Given the description of an element on the screen output the (x, y) to click on. 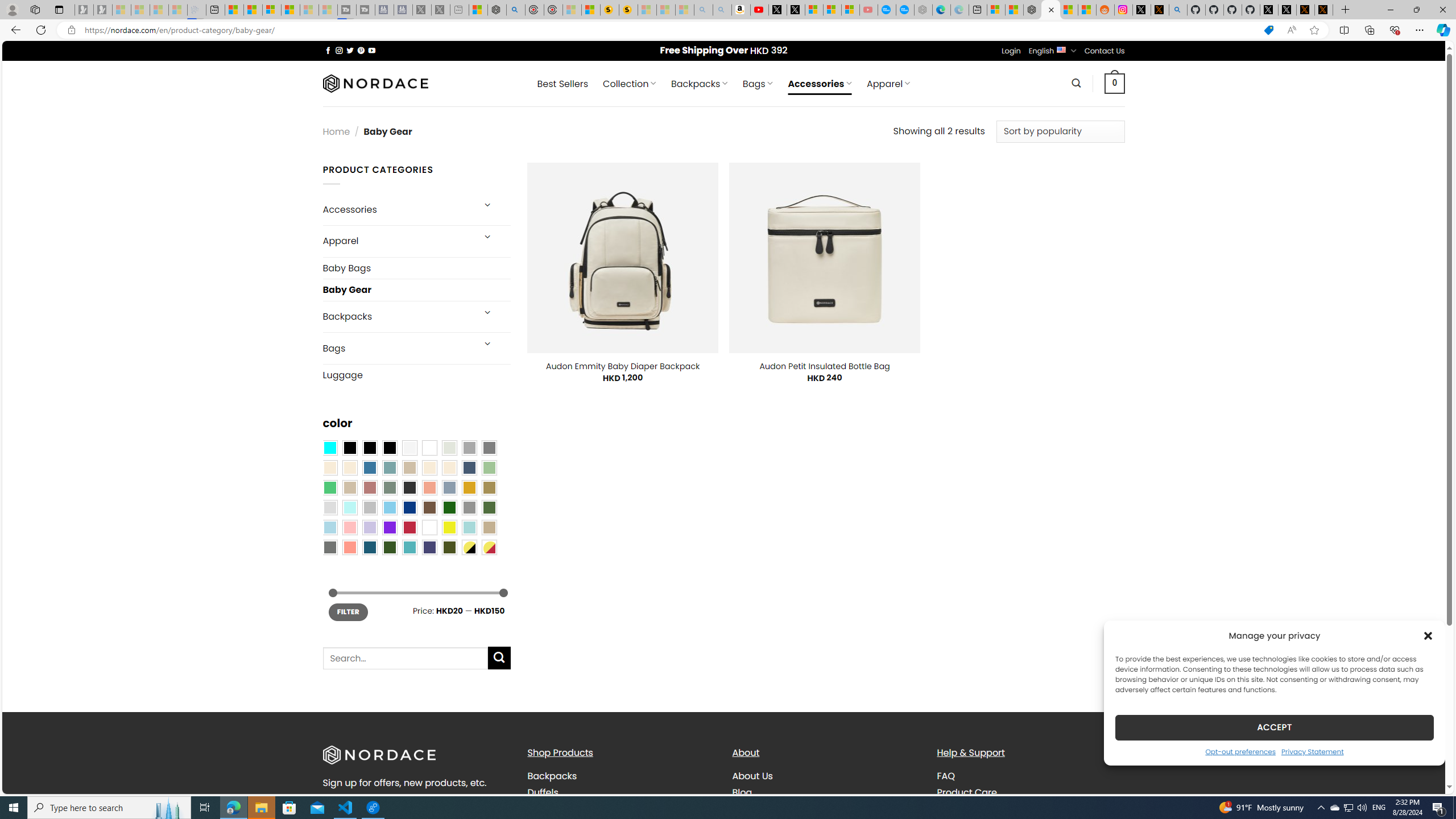
Aqua (468, 527)
Purple (389, 527)
Sage (389, 487)
About Us (752, 775)
Black-Brown (389, 447)
Shanghai, China Weather trends | Microsoft Weather (1086, 9)
 Best Sellers (562, 83)
Gold (468, 487)
